Given the description of an element on the screen output the (x, y) to click on. 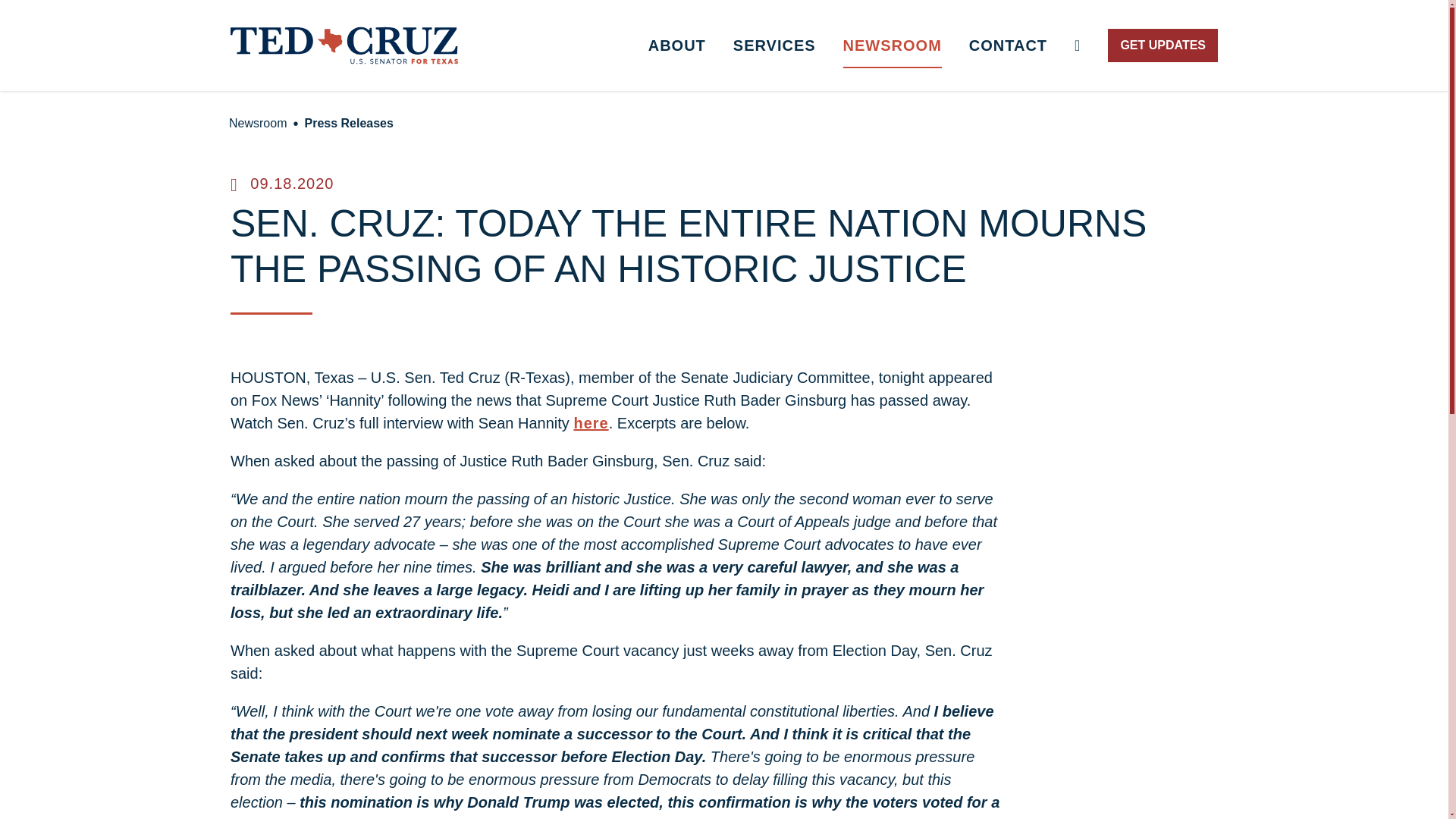
GET UPDATES (1162, 45)
Newsroom (257, 123)
WEBSITE SEARCH OPEN (1077, 44)
Skip to content (26, 26)
ABOUT (676, 44)
NEWSROOM (892, 44)
CONTACT (1008, 44)
Press Releases (348, 123)
SERVICES (774, 44)
here (590, 422)
